Given the description of an element on the screen output the (x, y) to click on. 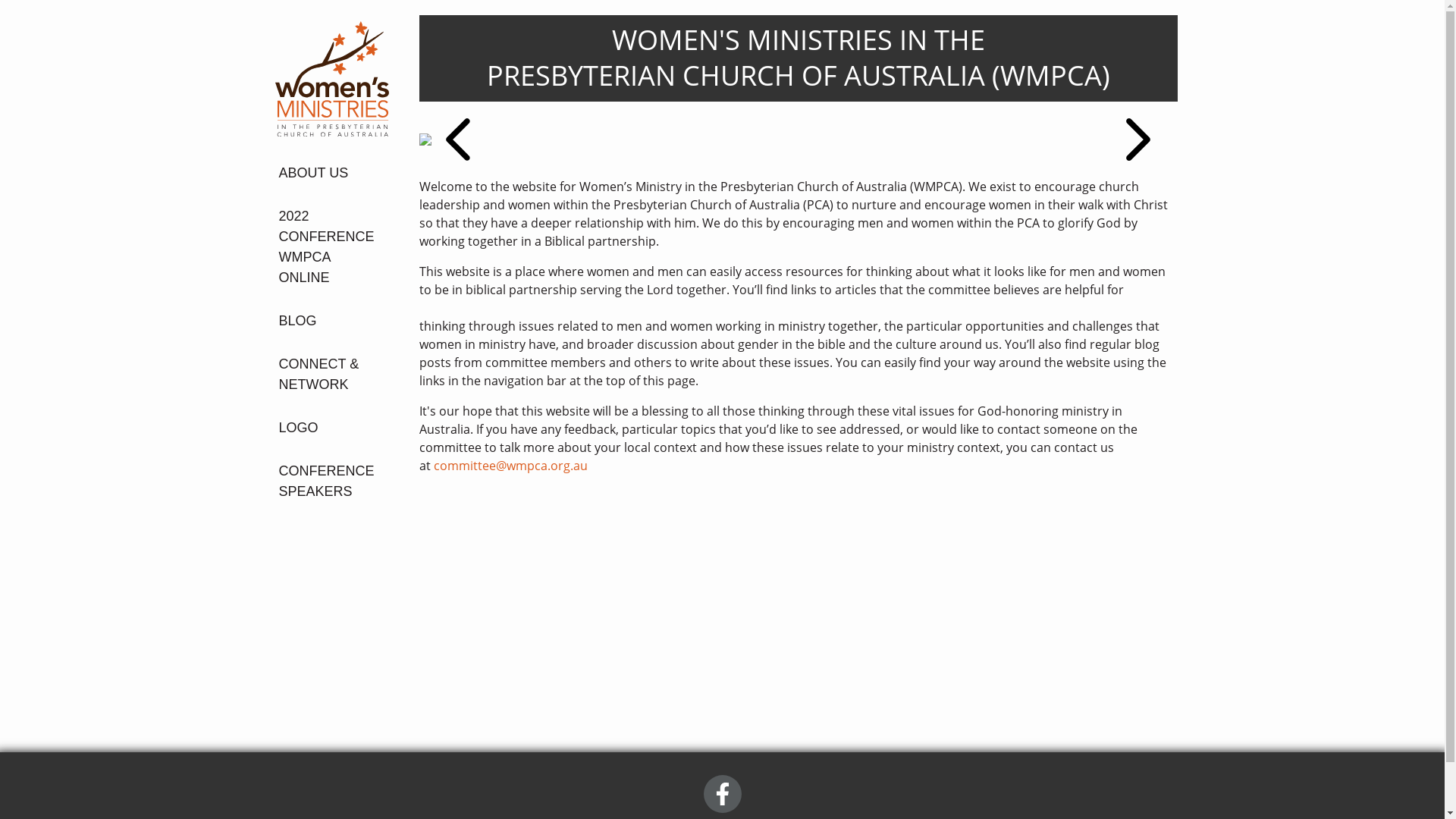
2022 CONFERENCE WMPCA ONLINE Element type: text (327, 246)
committee@wmpca.org.au Element type: text (510, 465)
CONFERENCE SPEAKERS Element type: text (327, 481)
BLOG Element type: text (327, 320)
LOGO Element type: text (327, 427)
CONNECT & NETWORK Element type: text (327, 374)
ABOUT US Element type: text (327, 172)
